Given the description of an element on the screen output the (x, y) to click on. 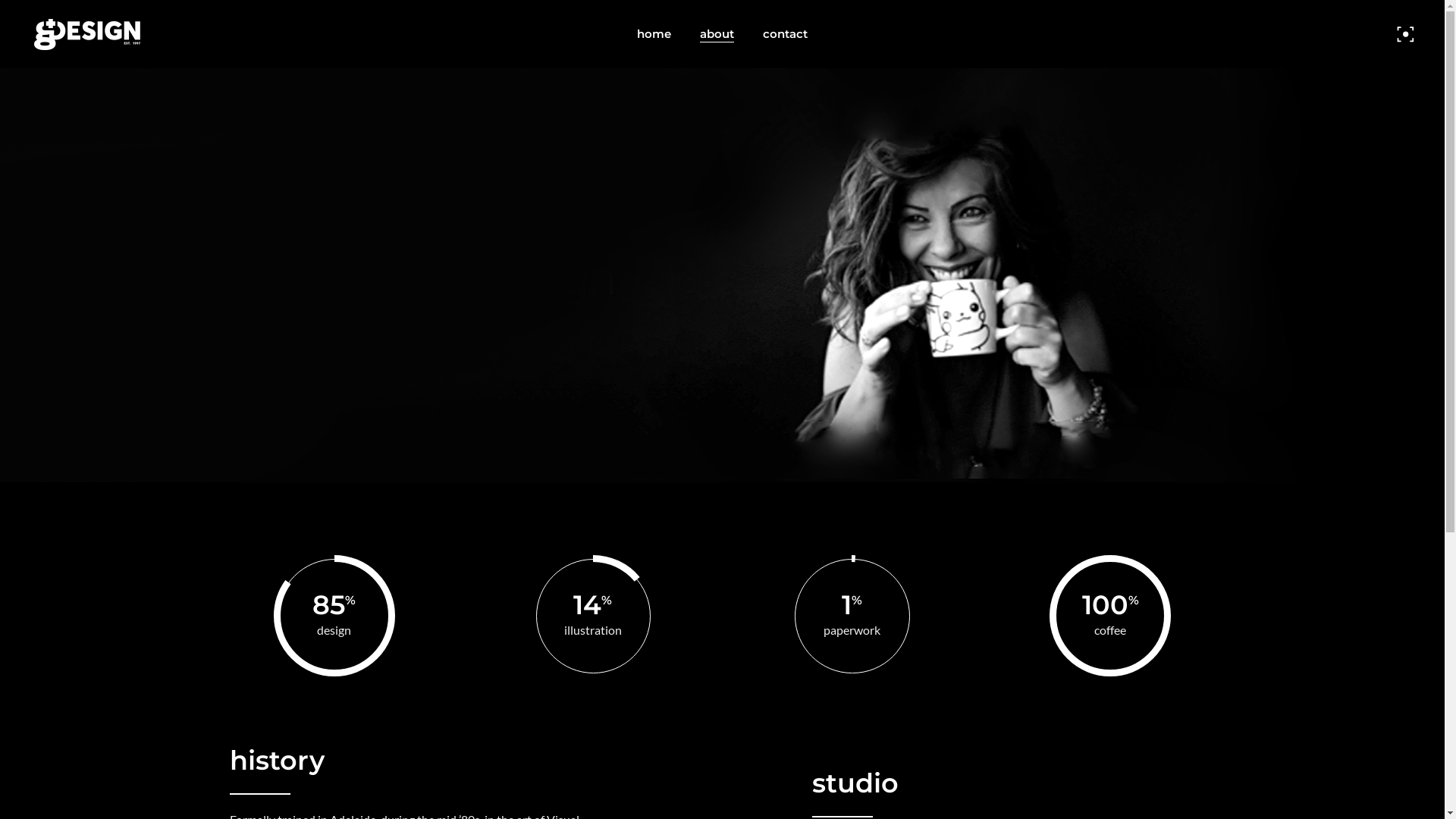
home Element type: text (653, 34)
contact Element type: text (785, 34)
about Element type: text (716, 34)
